Given the description of an element on the screen output the (x, y) to click on. 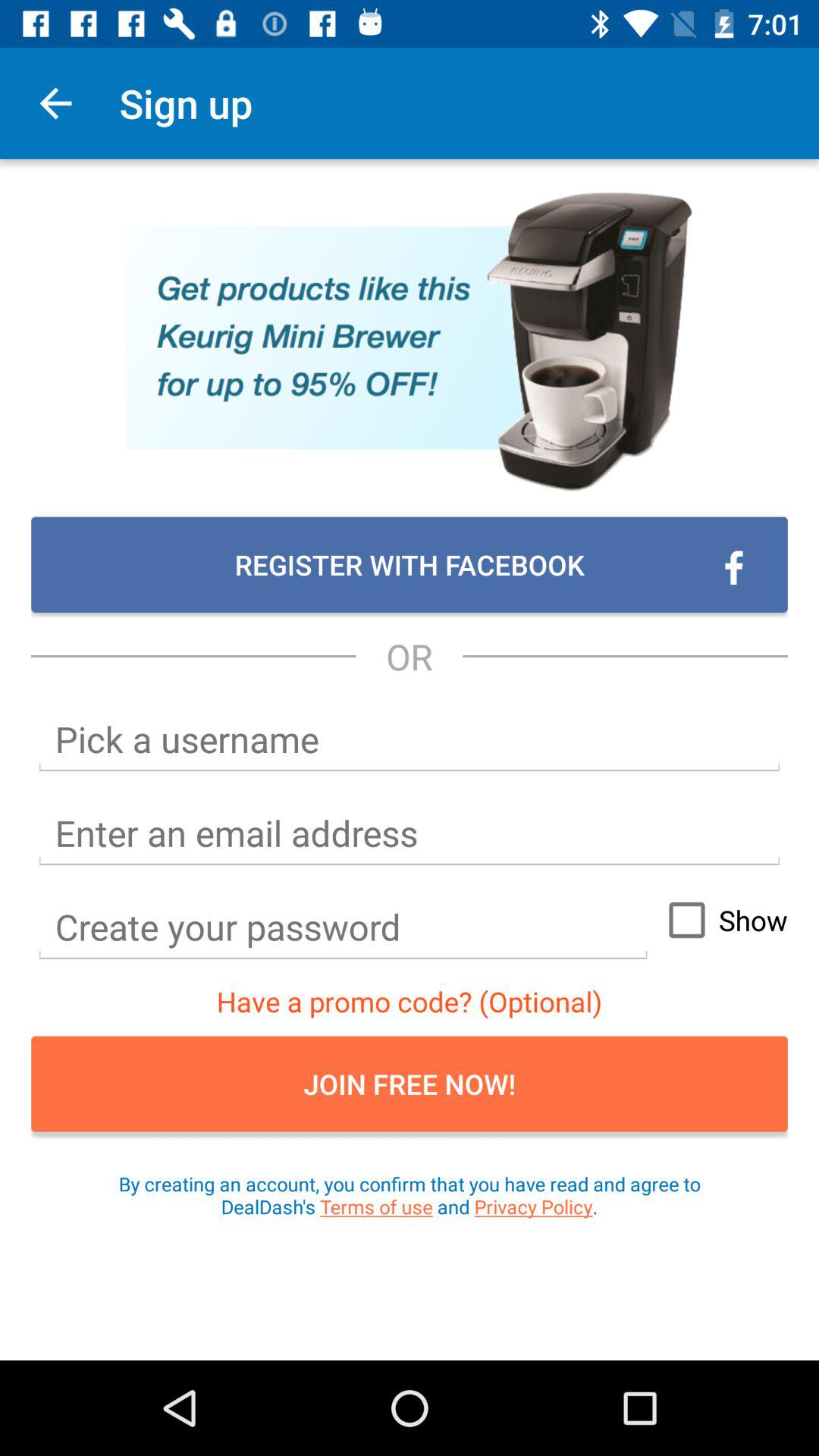
turn on show (721, 920)
